Given the description of an element on the screen output the (x, y) to click on. 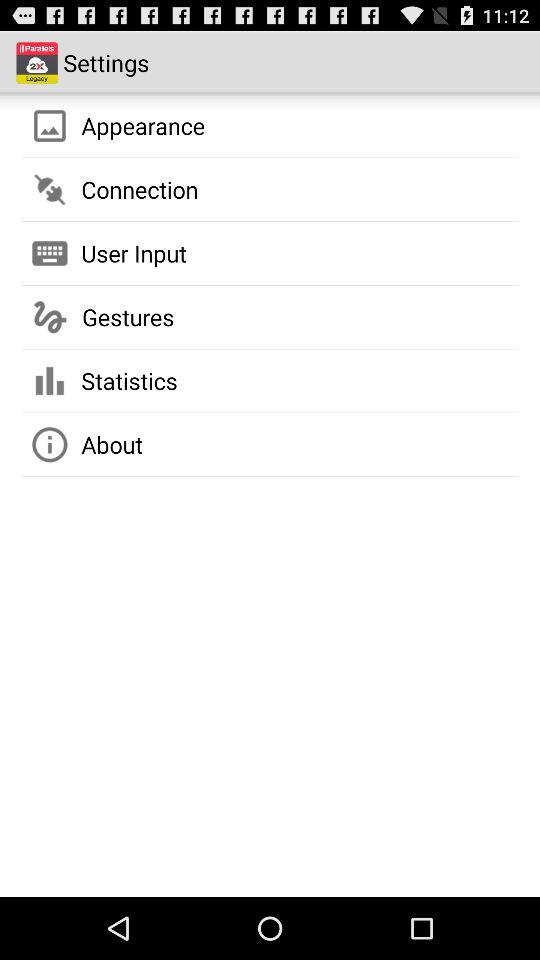
tap about icon (111, 444)
